Given the description of an element on the screen output the (x, y) to click on. 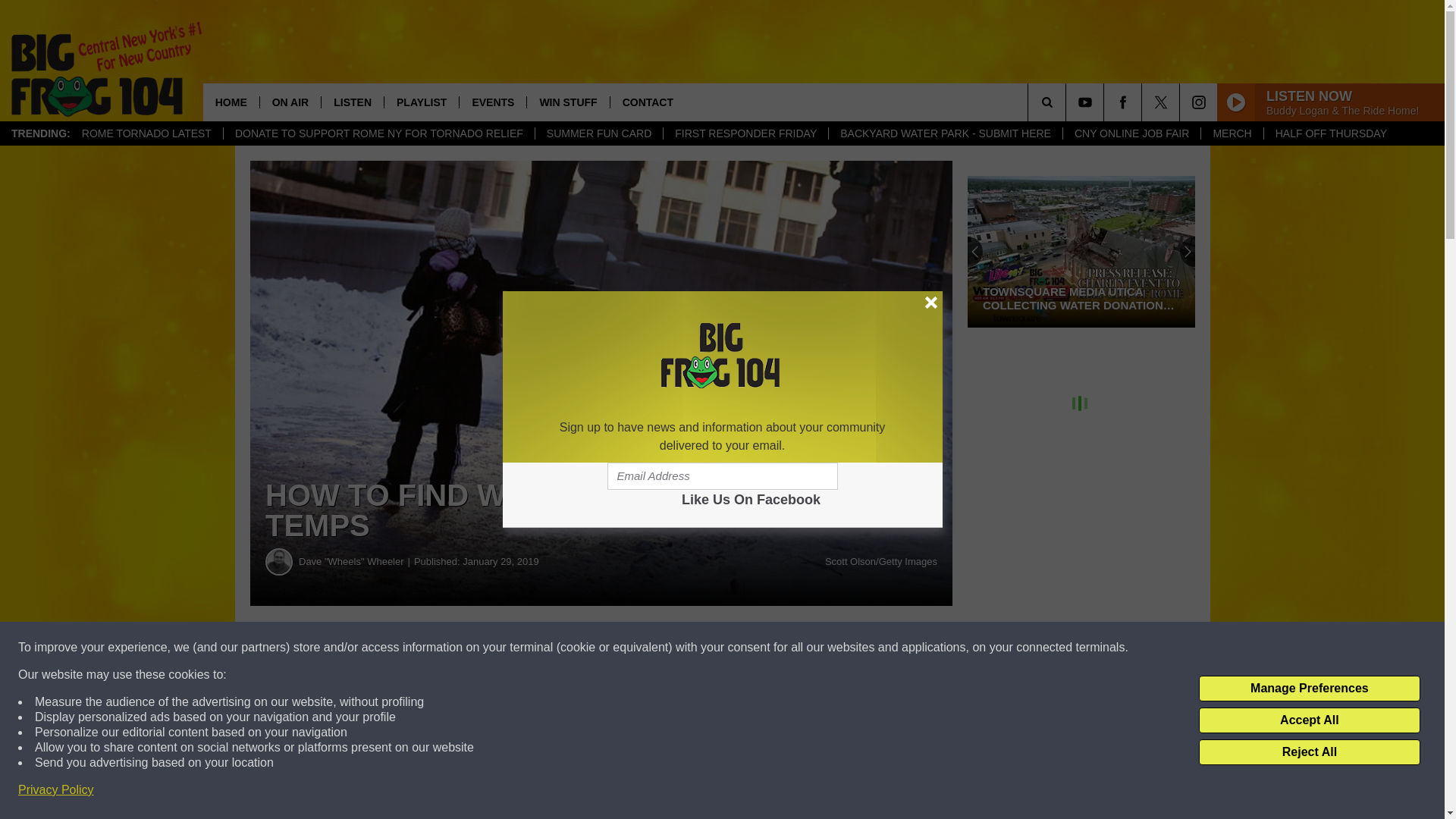
WIN STUFF (566, 102)
EVENTS (491, 102)
Reject All (1309, 751)
BACKYARD WATER PARK - SUBMIT HERE (945, 133)
PLAYLIST (421, 102)
LISTEN (352, 102)
SEARCH (1068, 102)
ON AIR (289, 102)
Privacy Policy (55, 789)
HALF OFF THURSDAY (1330, 133)
CONTACT (647, 102)
FIRST RESPONDER FRIDAY (745, 133)
Email Address (722, 475)
ROME TORNADO LATEST (145, 133)
SUMMER FUN CARD (598, 133)
